Given the description of an element on the screen output the (x, y) to click on. 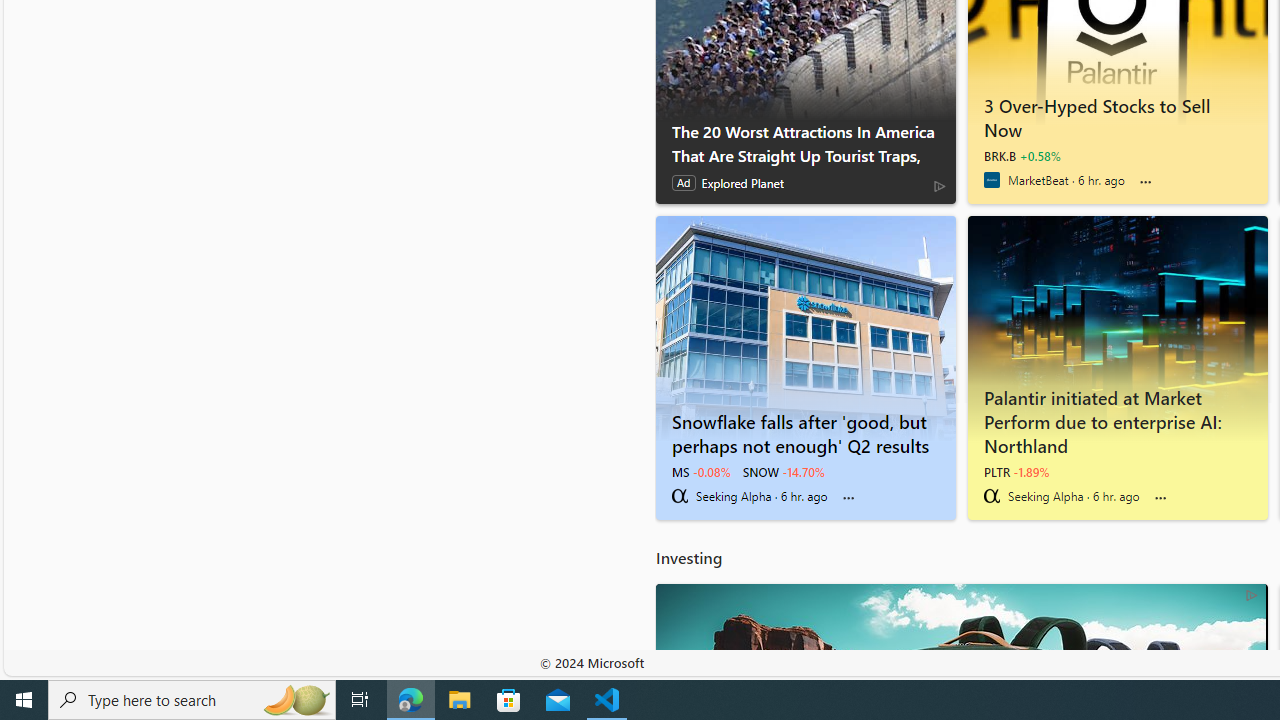
3 Over-Hyped Stocks to Sell Now - MarketBeat (1117, 114)
MS -0.08% (700, 471)
Ad (683, 183)
Seeking Alpha (991, 495)
MarketBeat (991, 179)
PLTR -1.89% (1016, 471)
BRK.B +0.58% (1022, 156)
